Given the description of an element on the screen output the (x, y) to click on. 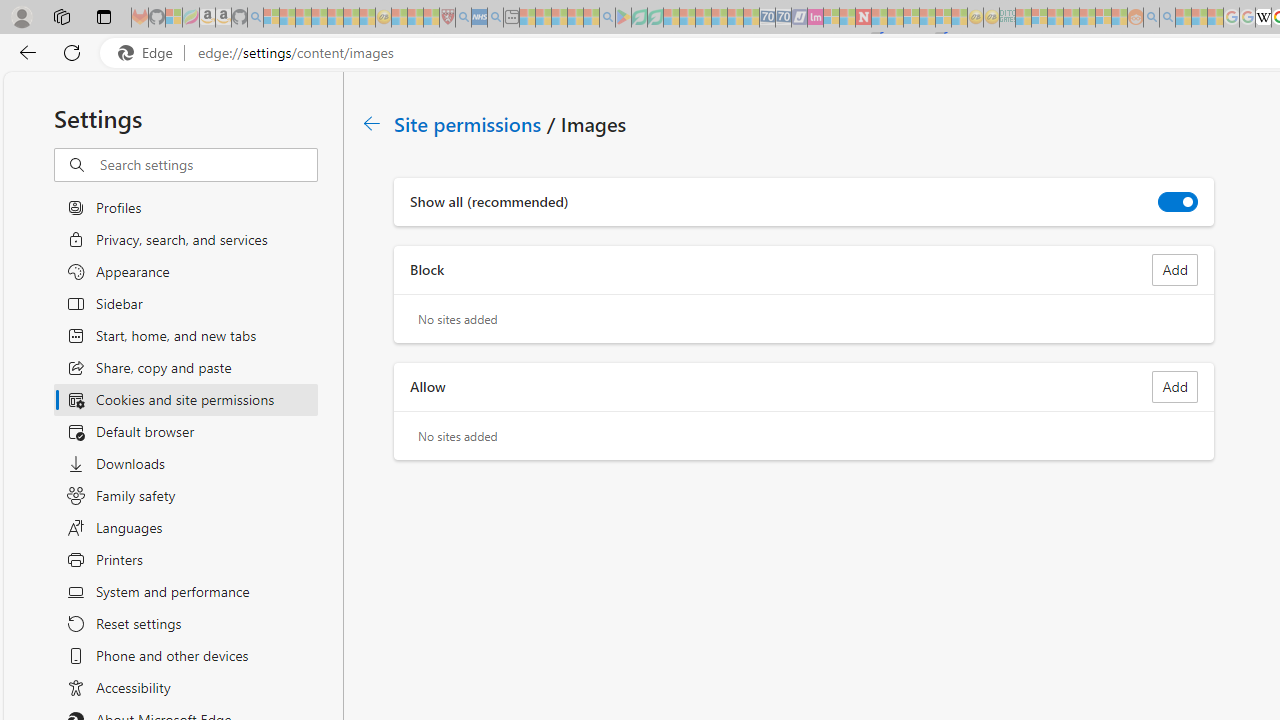
Site permissions (468, 123)
Class: c01182 (371, 123)
Go back to Site permissions page. (372, 123)
Edge (150, 53)
